Given the description of an element on the screen output the (x, y) to click on. 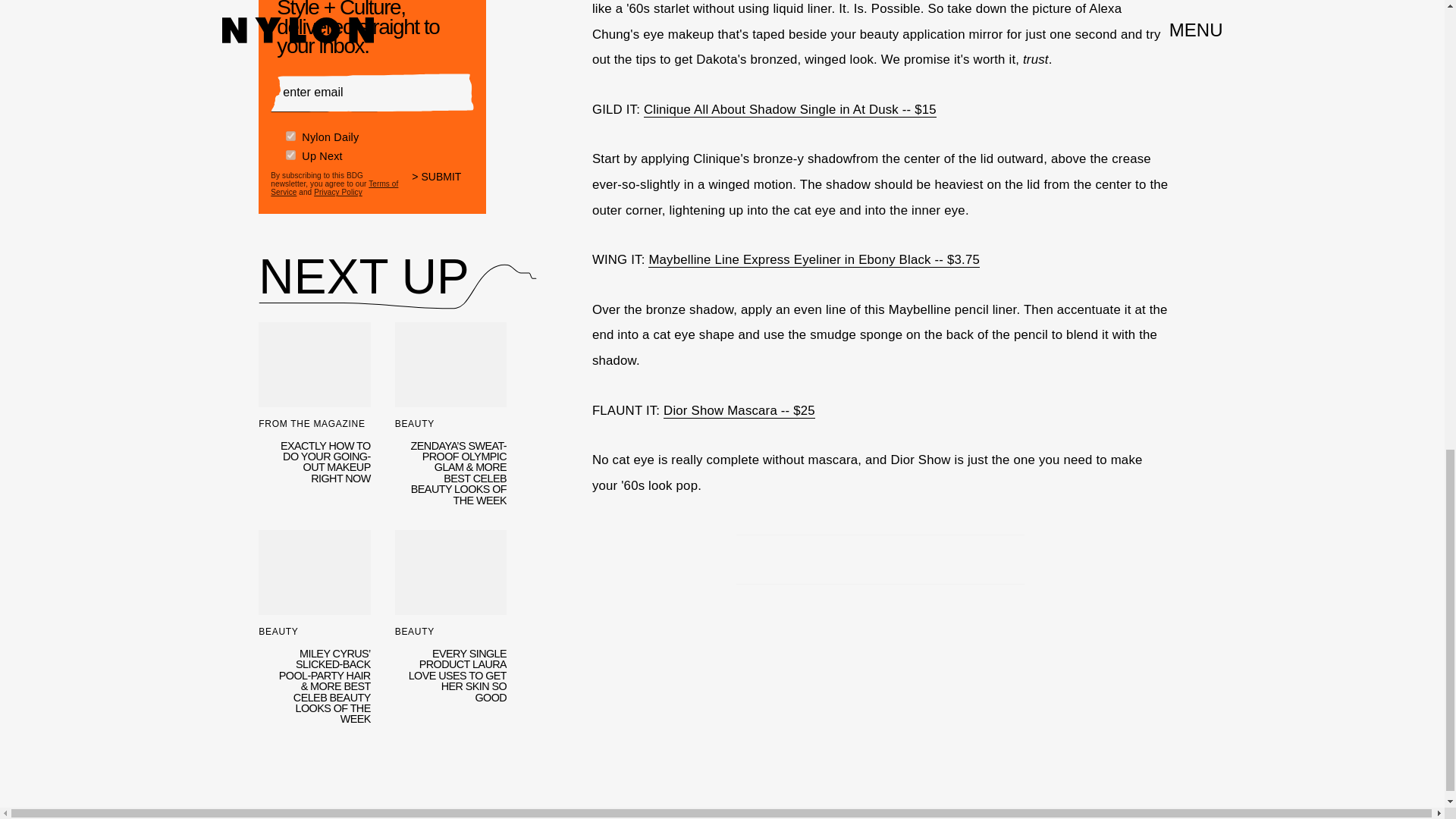
SUBMIT (443, 186)
Terms of Service (333, 187)
Privacy Policy (338, 192)
